Given the description of an element on the screen output the (x, y) to click on. 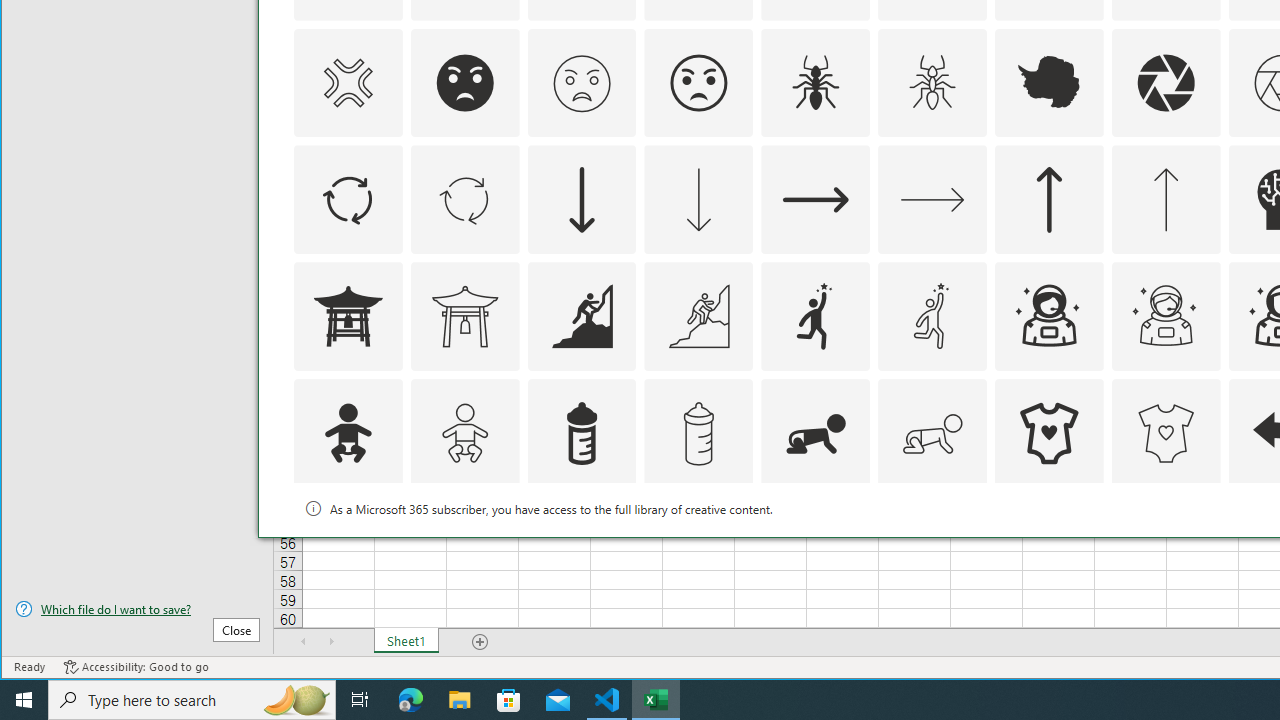
AutomationID: Icons_Aspiration_M (698, 316)
AutomationID: Icons_Badge3 (698, 550)
AutomationID: Icons_ArrowUp (1048, 200)
AutomationID: Icons_ArrowDown (582, 200)
Excel - 1 running window (656, 699)
AutomationID: Icons_BabyBottle (582, 434)
AutomationID: Icons_Aspiration1 (815, 316)
